Given the description of an element on the screen output the (x, y) to click on. 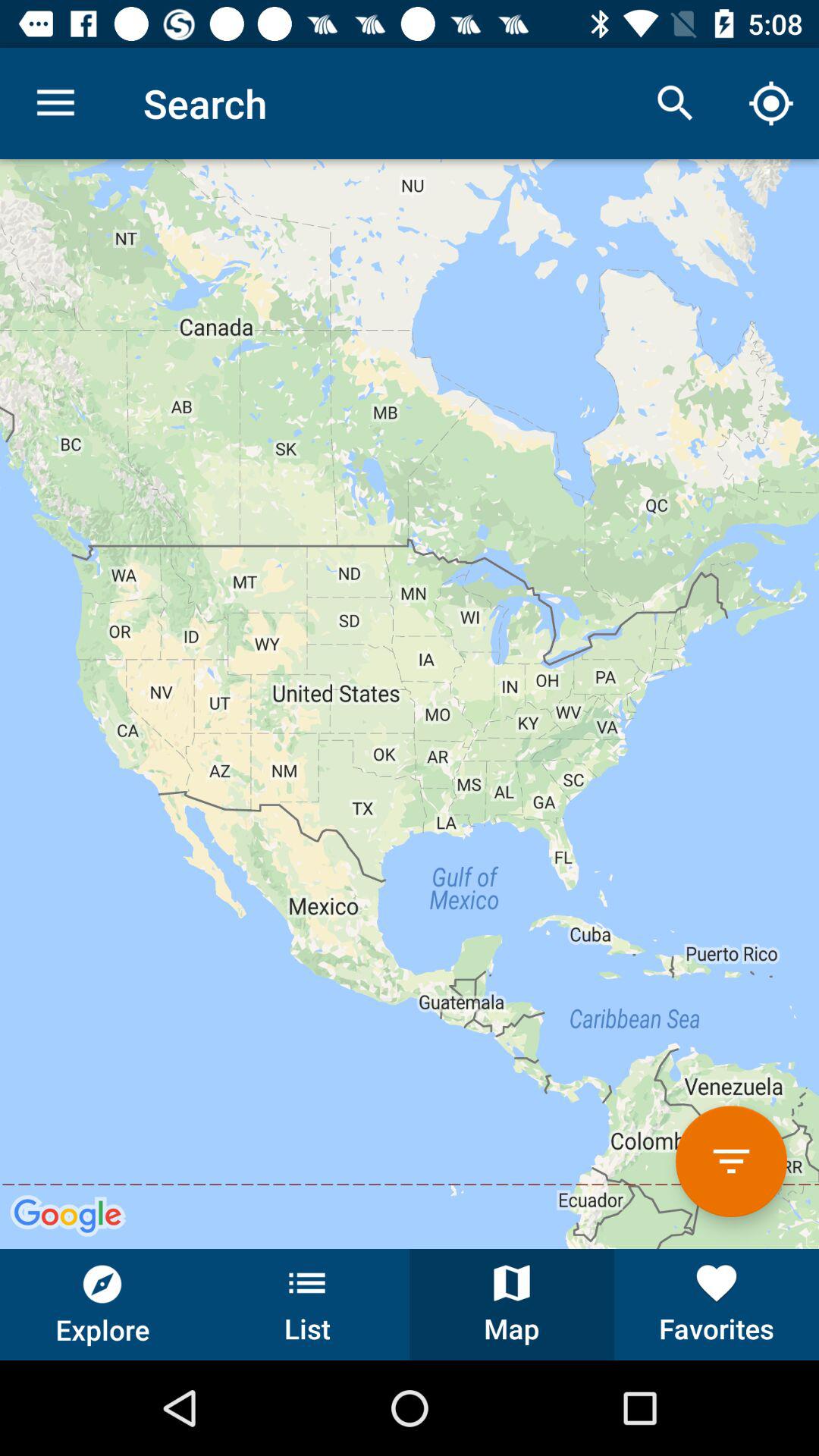
open options menu (731, 1161)
